Given the description of an element on the screen output the (x, y) to click on. 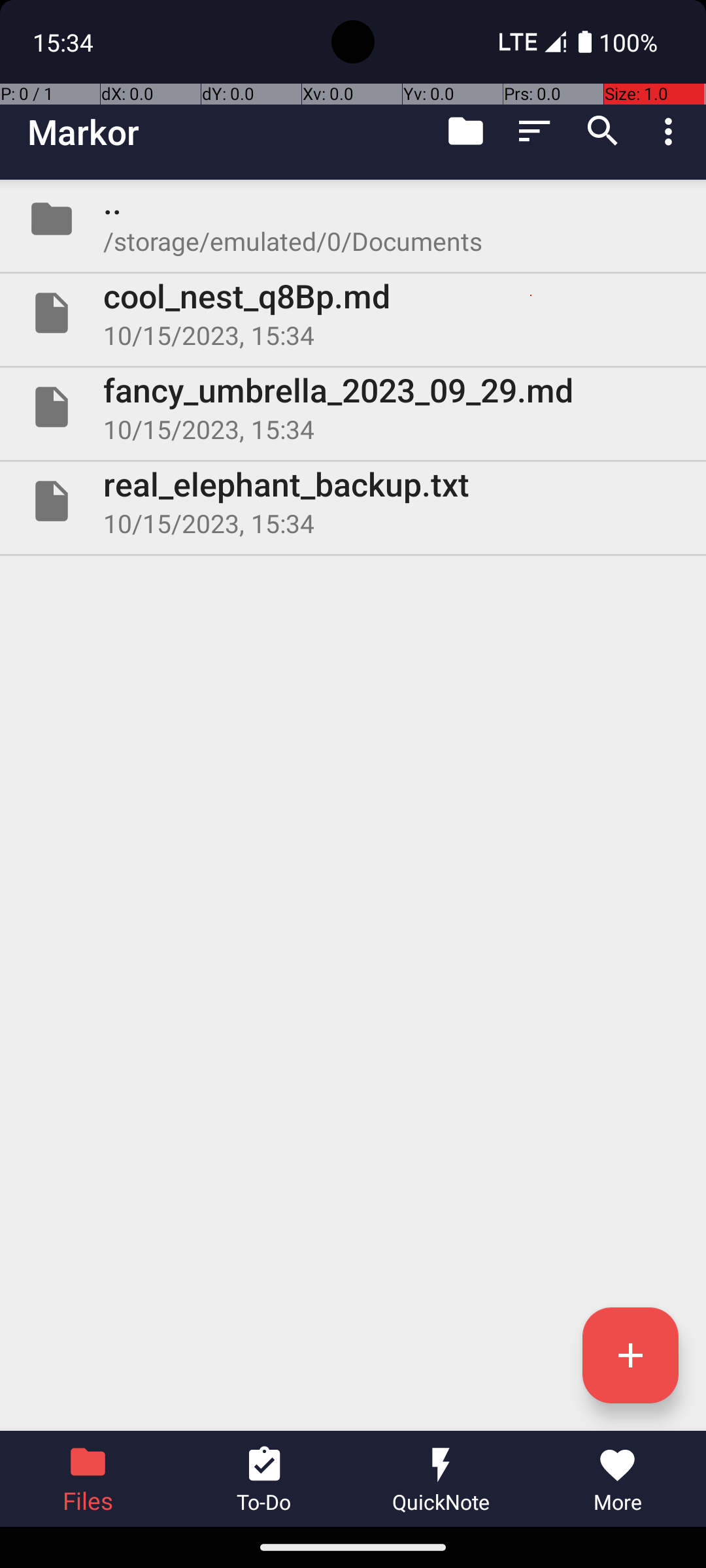
File cool_nest_q8Bp.md  Element type: android.widget.LinearLayout (353, 312)
File fancy_umbrella_2023_09_29.md  Element type: android.widget.LinearLayout (353, 406)
File real_elephant_backup.txt  Element type: android.widget.LinearLayout (353, 500)
